Given the description of an element on the screen output the (x, y) to click on. 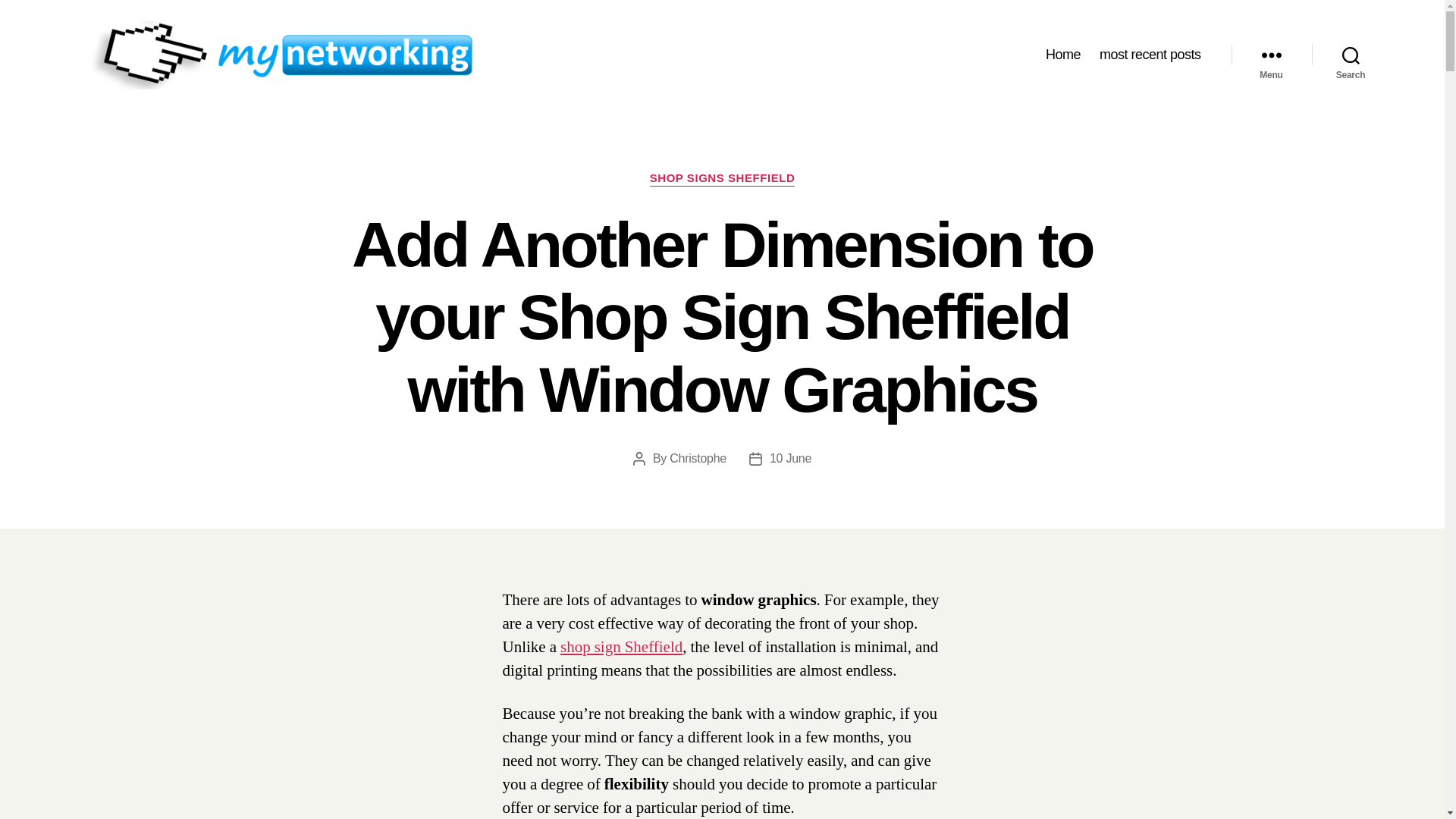
Christophe (697, 458)
10 June (790, 458)
SHOP SIGNS SHEFFIELD (721, 178)
Menu (1271, 55)
Search (1350, 55)
most recent posts (1150, 54)
Home (1062, 54)
shop sign Sheffield (621, 647)
